Given the description of an element on the screen output the (x, y) to click on. 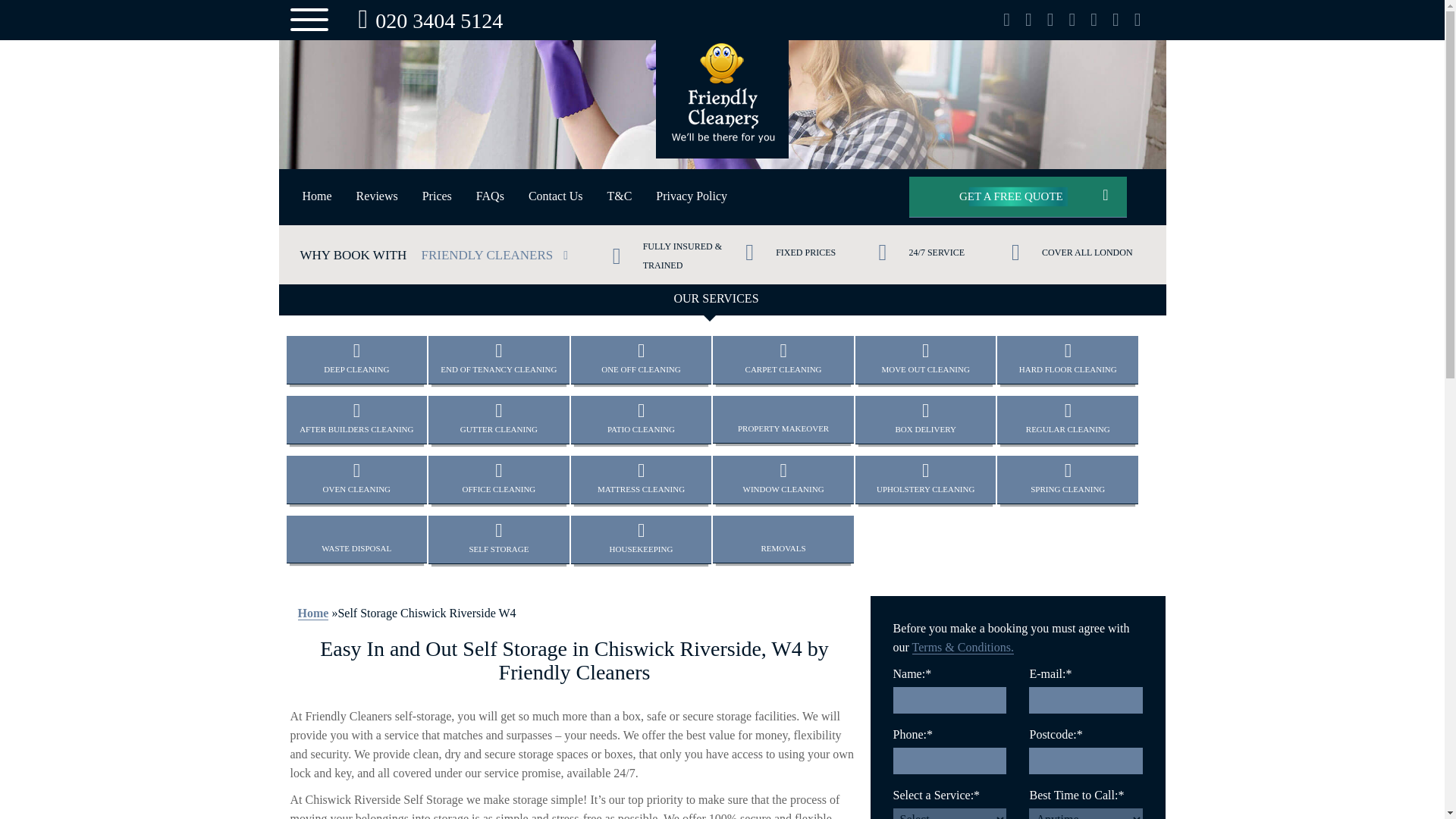
DEEP CLEANING (357, 359)
OVEN CLEANING (357, 479)
CARPET CLEANING (783, 359)
OFFICE CLEANING (498, 479)
Contact Us (555, 196)
Reviews (376, 196)
PROPERTY MAKEOVER (783, 419)
Prices (437, 196)
AFTER BUILDERS CLEANING (357, 419)
PATIO CLEANING (640, 419)
